Given the description of an element on the screen output the (x, y) to click on. 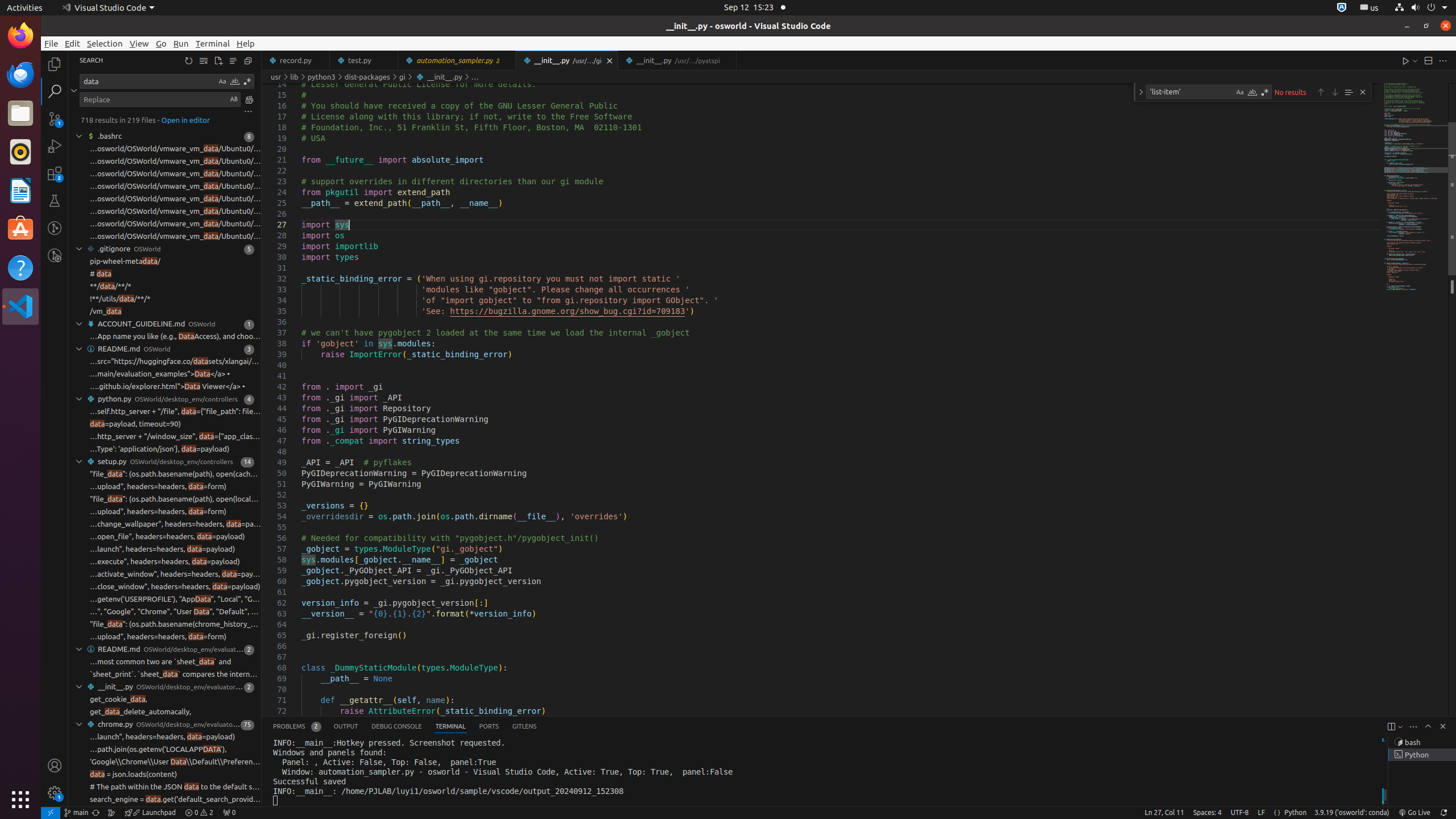
' requests.post("http://" + host + ":5000/setup" + "/launch", headers=headers, data=payload)' at column 94 found data Element type: tree-item (164, 736)
GitLens Inspect Element type: page-tab (54, 255)
Use Regular Expression (Alt+R) Element type: check-box (1264, 91)
' VM_PATH="/home/PJLAB/luyi1/osworld/OSWorld/vmware_vm_data/Ubuntu0/Ubuntu0.vmx"' at column 58 found data Element type: tree-item (164, 235)
